Given the description of an element on the screen output the (x, y) to click on. 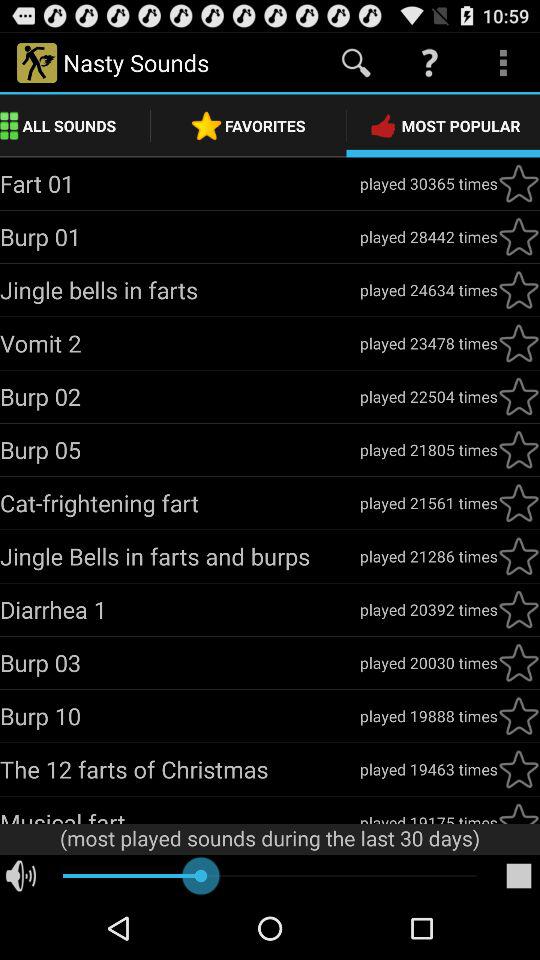
favourite (519, 503)
